Given the description of an element on the screen output the (x, y) to click on. 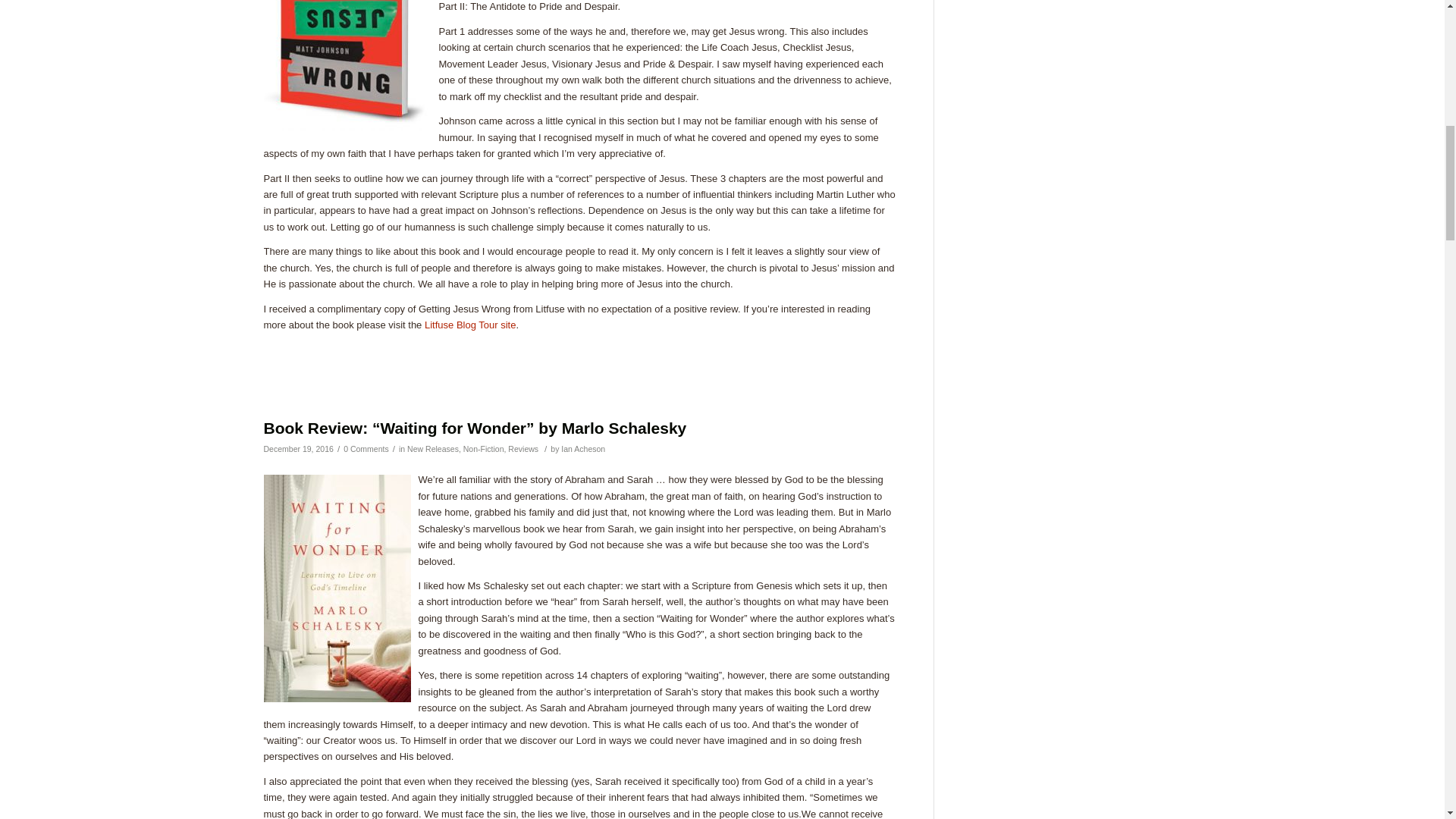
Posts by Ian Acheson (582, 448)
Litfuse Blog Tour site (470, 324)
0 Comments (365, 448)
Non-Fiction (483, 448)
New Releases (432, 448)
